Given the description of an element on the screen output the (x, y) to click on. 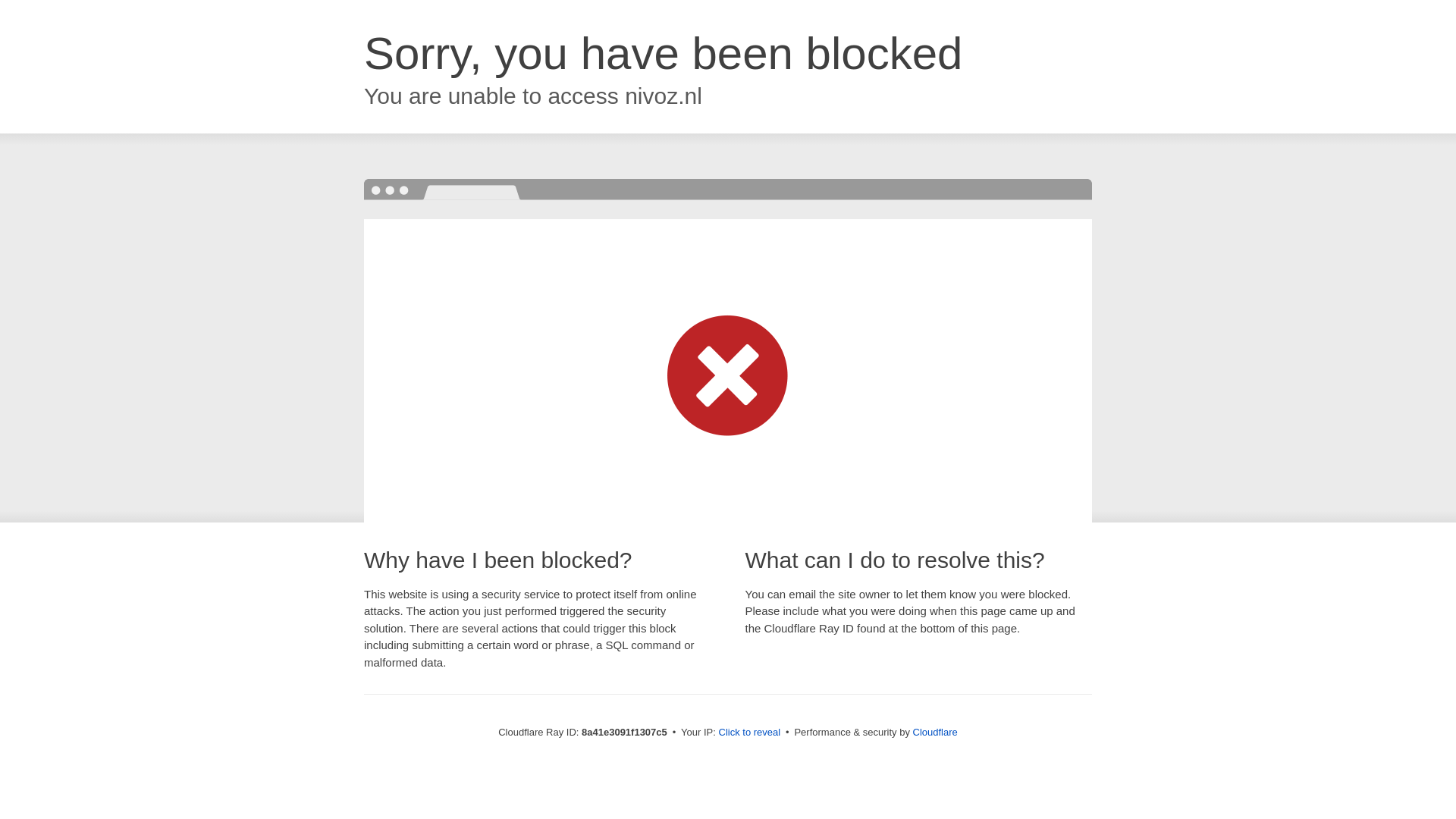
Cloudflare (935, 731)
Click to reveal (749, 732)
